Given the description of an element on the screen output the (x, y) to click on. 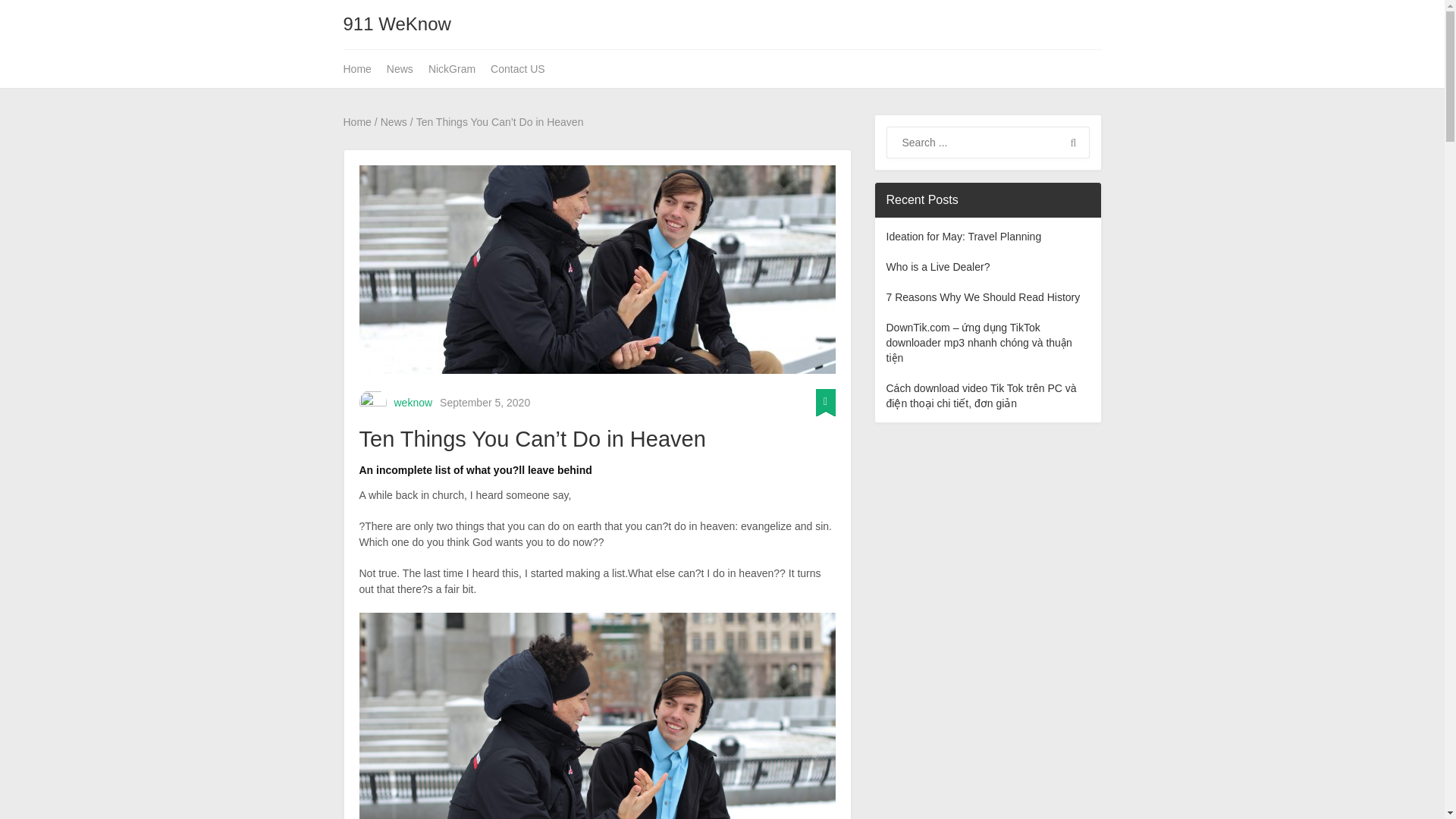
weknow (413, 402)
Home (356, 121)
Posts by weknow (413, 402)
Contact US (518, 68)
News (393, 121)
NickGram (451, 68)
911 WeKnow (395, 24)
Ideation for May: Travel Planning (963, 236)
Who is a Live Dealer? (937, 266)
News (399, 68)
7 Reasons Why We Should Read History (982, 297)
Home (360, 68)
